Given the description of an element on the screen output the (x, y) to click on. 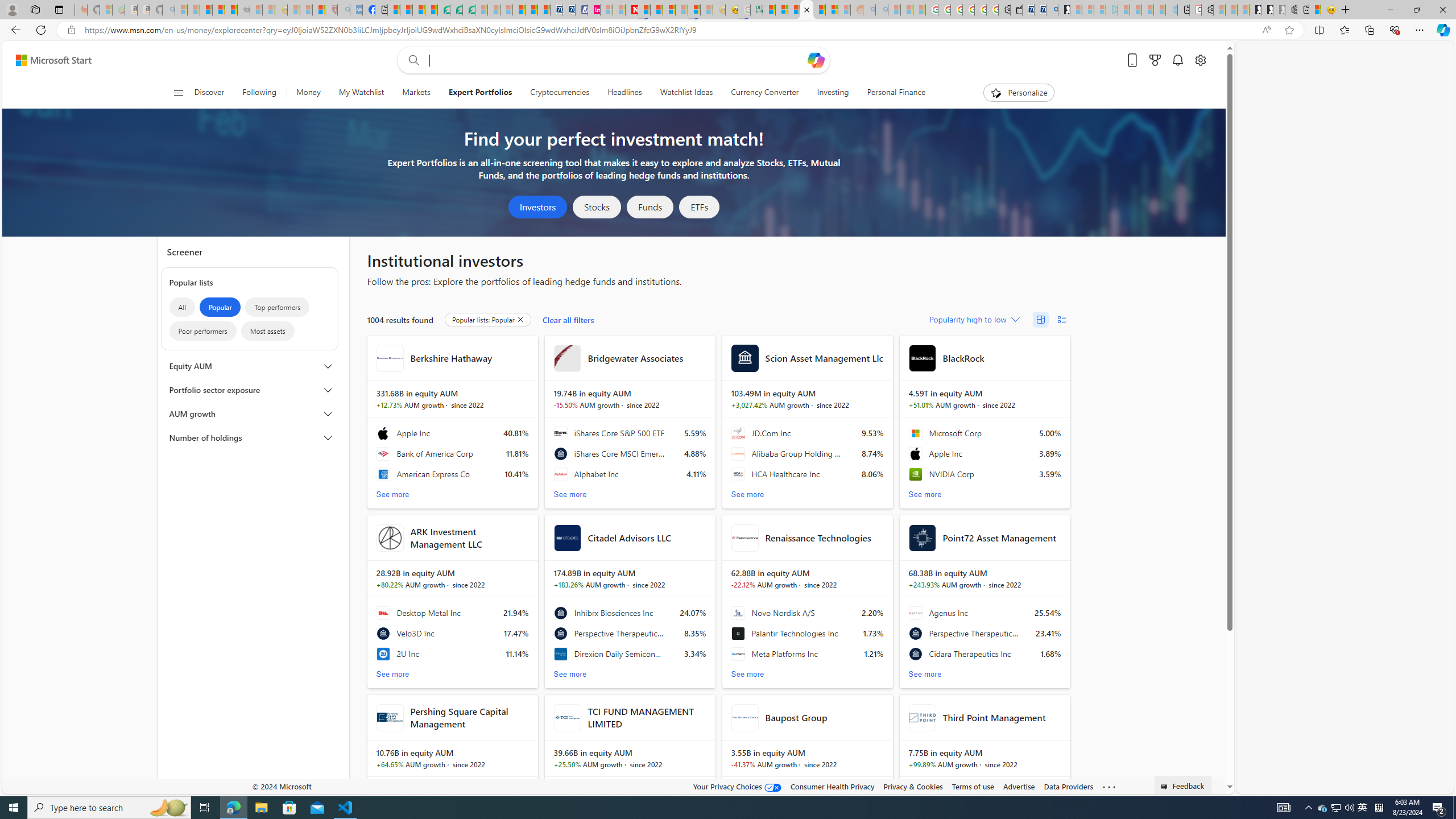
New Report Confirms 2023 Was Record Hot | Watch (230, 9)
Class: oneFooter_seeMore-DS-EntryPoint1-1 (1108, 786)
Expert Portfolios (806, 9)
My Watchlist (361, 92)
Data Providers (1068, 786)
